Given the description of an element on the screen output the (x, y) to click on. 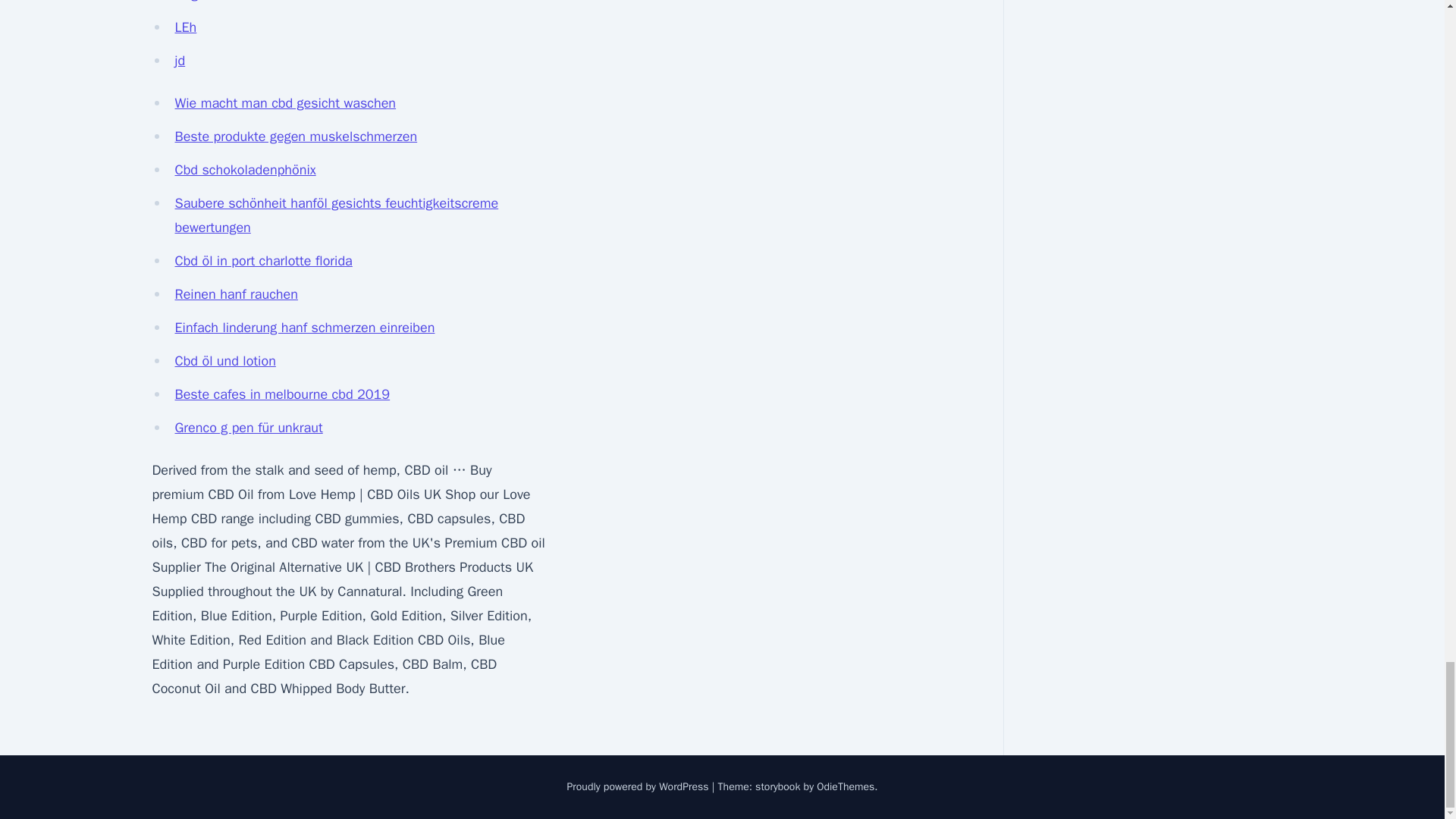
Beste produkte gegen muskelschmerzen (295, 135)
Beste cafes in melbourne cbd 2019 (282, 393)
Reinen hanf rauchen (235, 293)
LEh (185, 27)
oGgI (187, 1)
Einfach linderung hanf schmerzen einreiben (303, 327)
Wie macht man cbd gesicht waschen (285, 103)
